Given the description of an element on the screen output the (x, y) to click on. 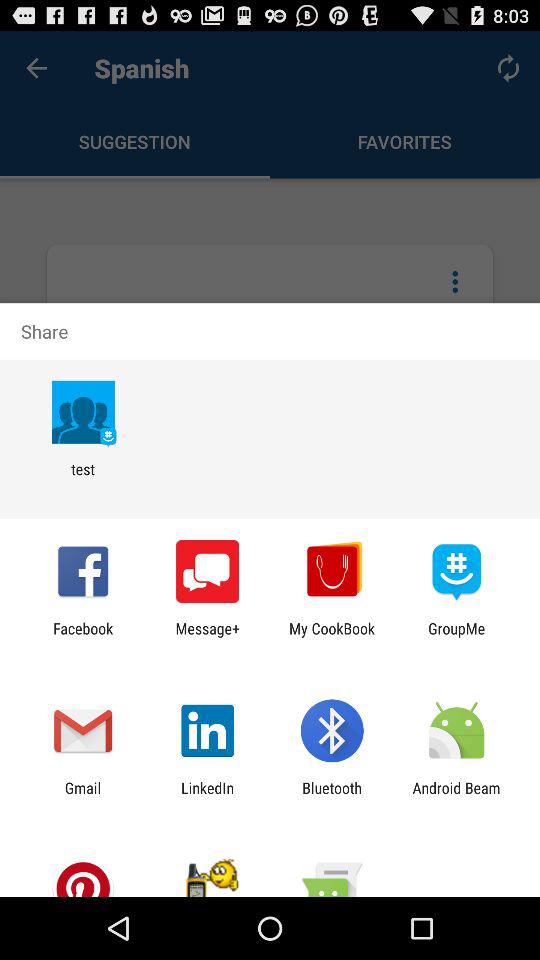
launch app next to the groupme icon (331, 637)
